Given the description of an element on the screen output the (x, y) to click on. 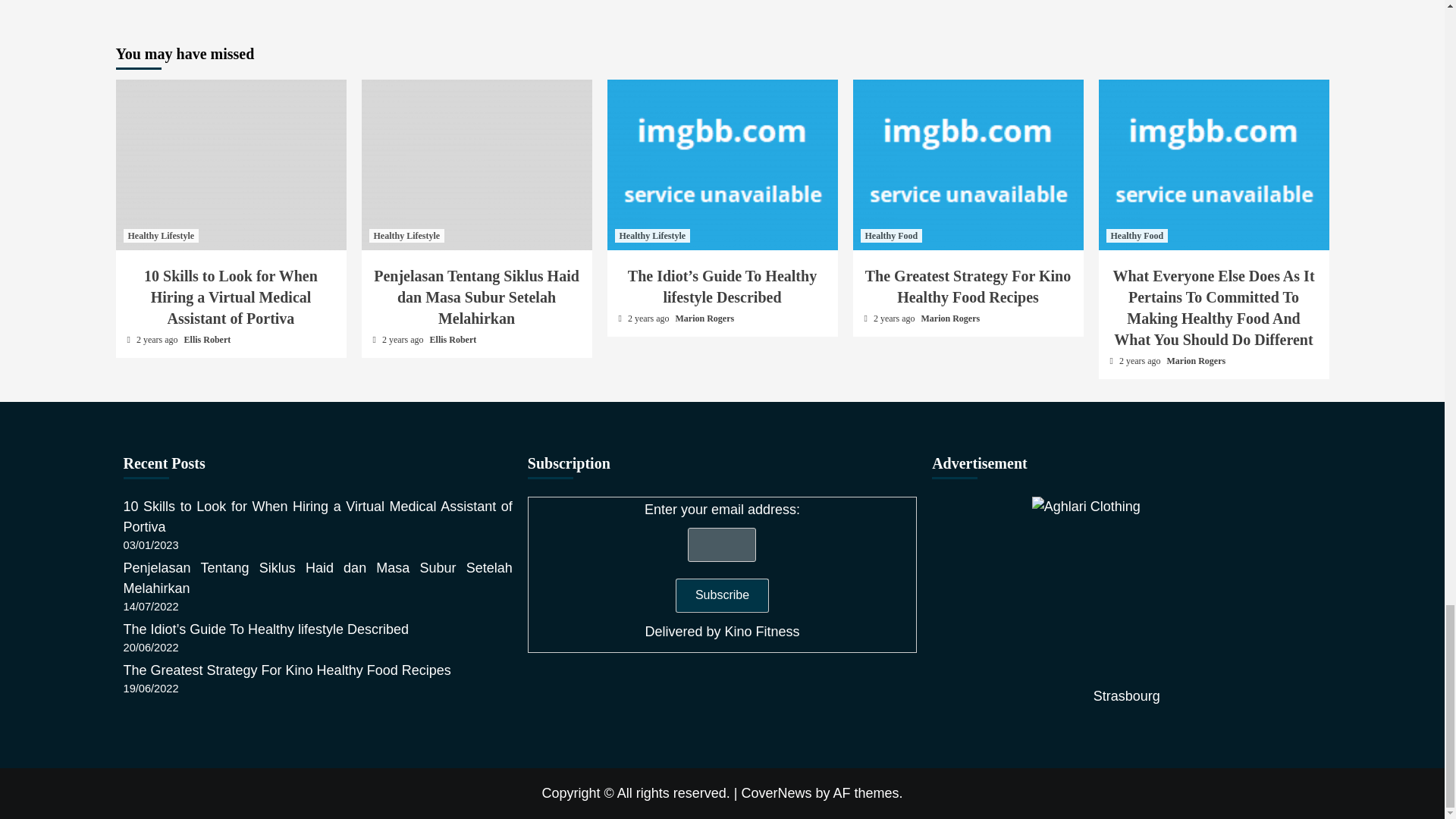
Subscribe (721, 595)
Aghlari Clothing (1126, 591)
The Greatest Strategy For Kino Healthy Food Recipes (967, 164)
The Idiot's Guide To Healthy lifestyle Described (722, 164)
